Given the description of an element on the screen output the (x, y) to click on. 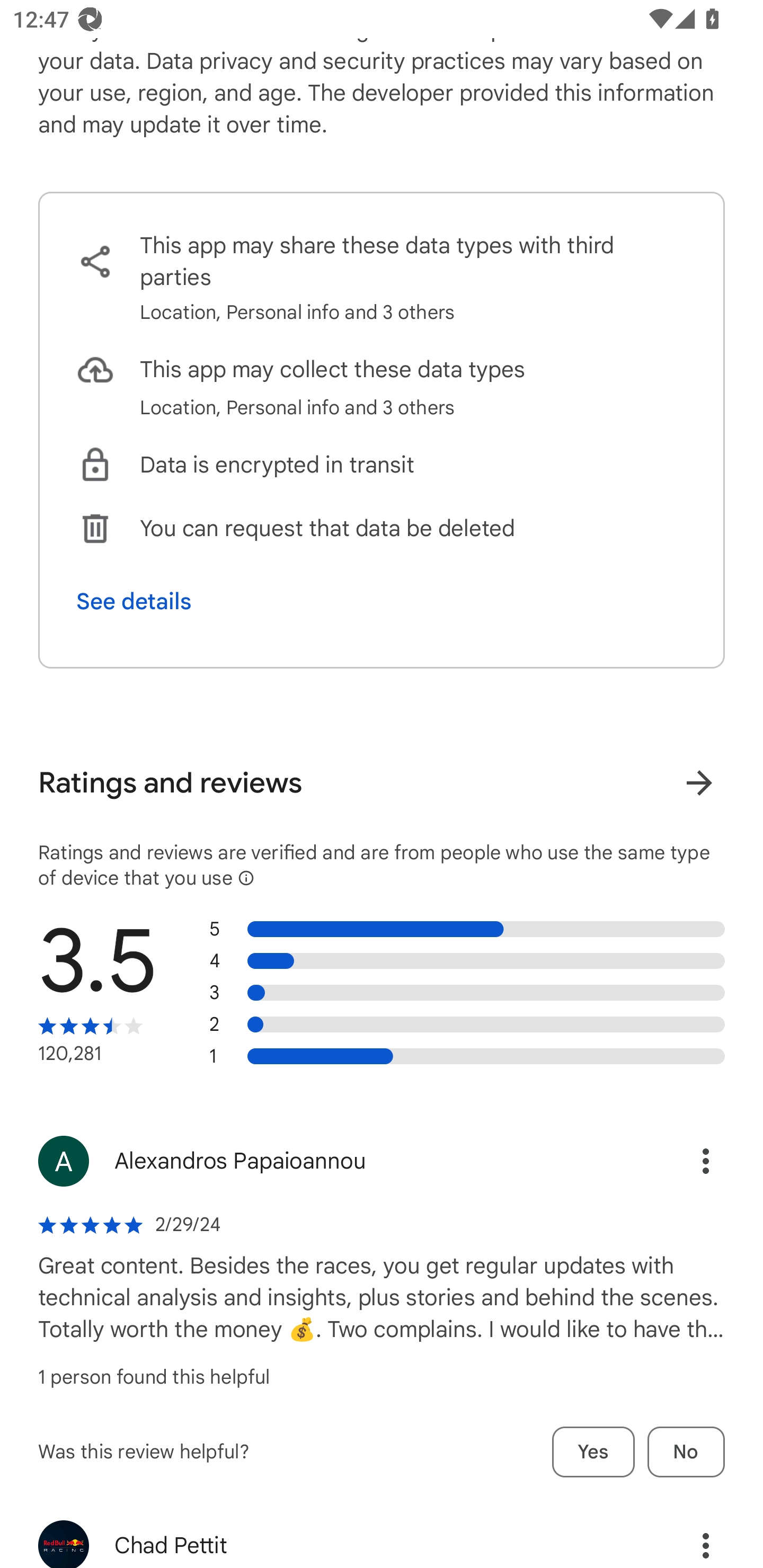
See details (133, 600)
Ratings and reviews View all ratings and reviews (381, 782)
View all ratings and reviews (699, 782)
Options (686, 1160)
Yes (593, 1451)
No (685, 1451)
Options (686, 1537)
